Given the description of an element on the screen output the (x, y) to click on. 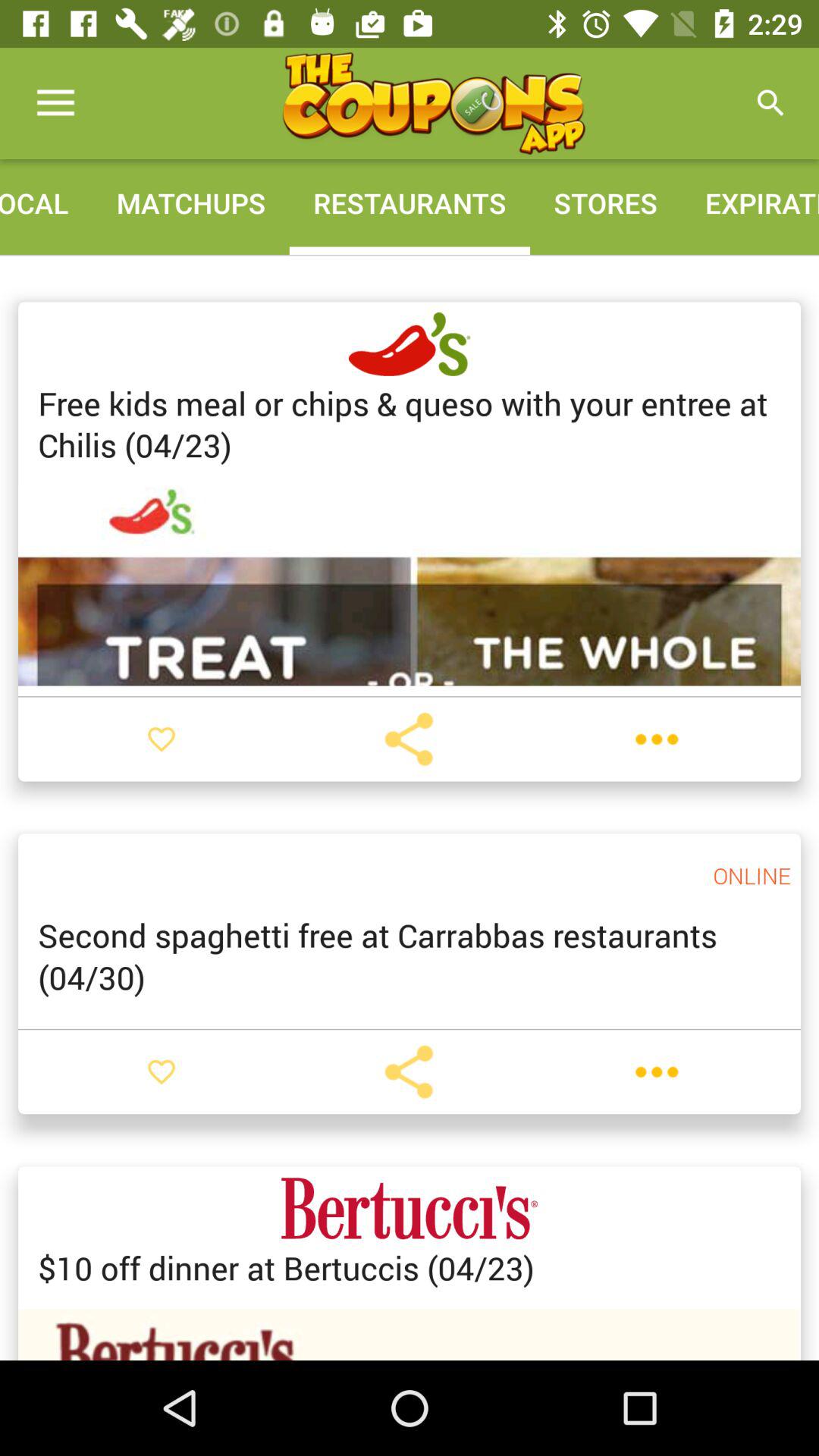
moe info on restaurant (656, 1071)
